Given the description of an element on the screen output the (x, y) to click on. 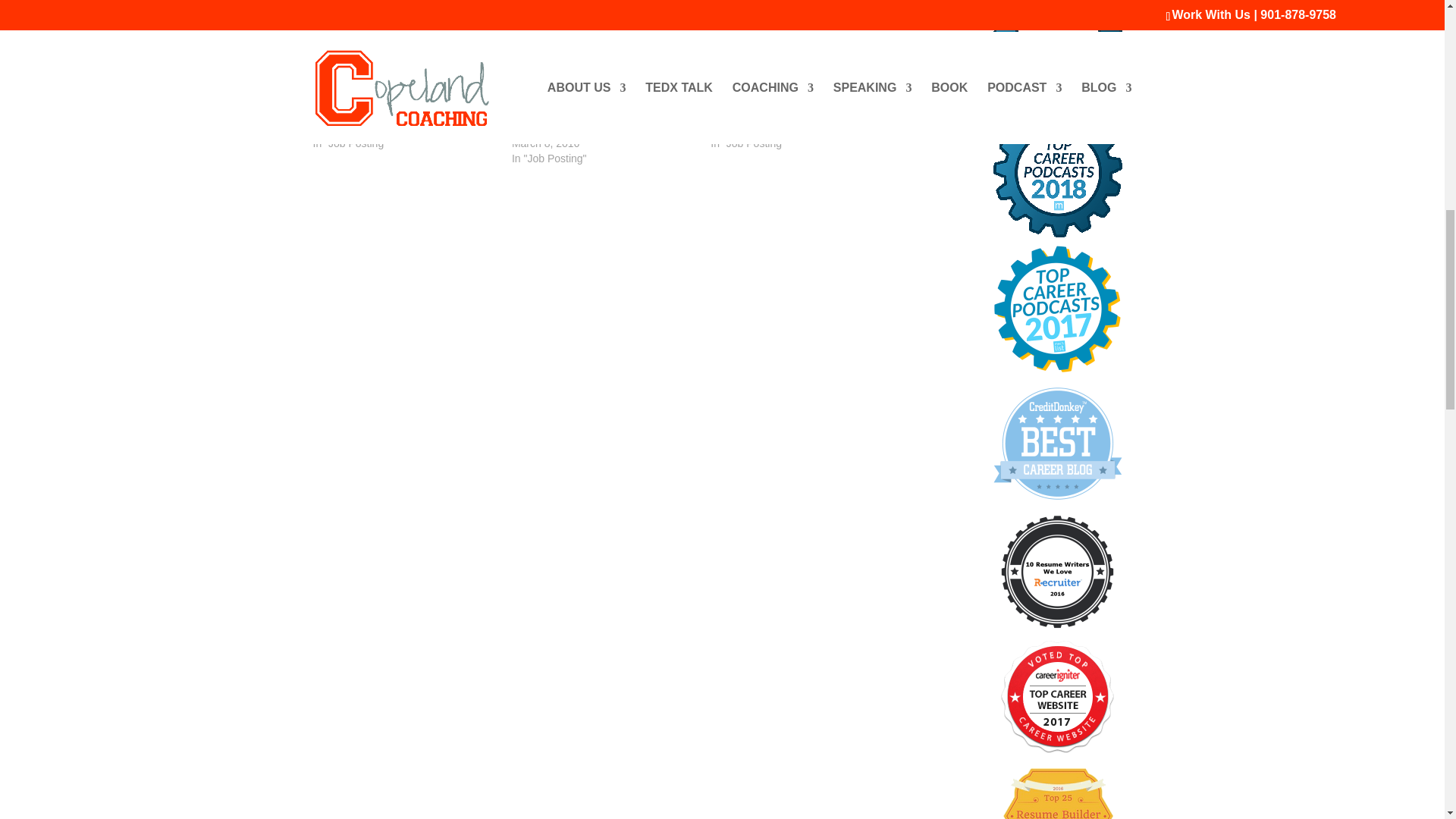
Click to print (475, 11)
Click to share on Twitter (384, 11)
Click to share on LinkedIn (354, 11)
Click to email a link to a friend (324, 11)
Click to share on Facebook (415, 11)
Click to share on Reddit (445, 11)
